Given the description of an element on the screen output the (x, y) to click on. 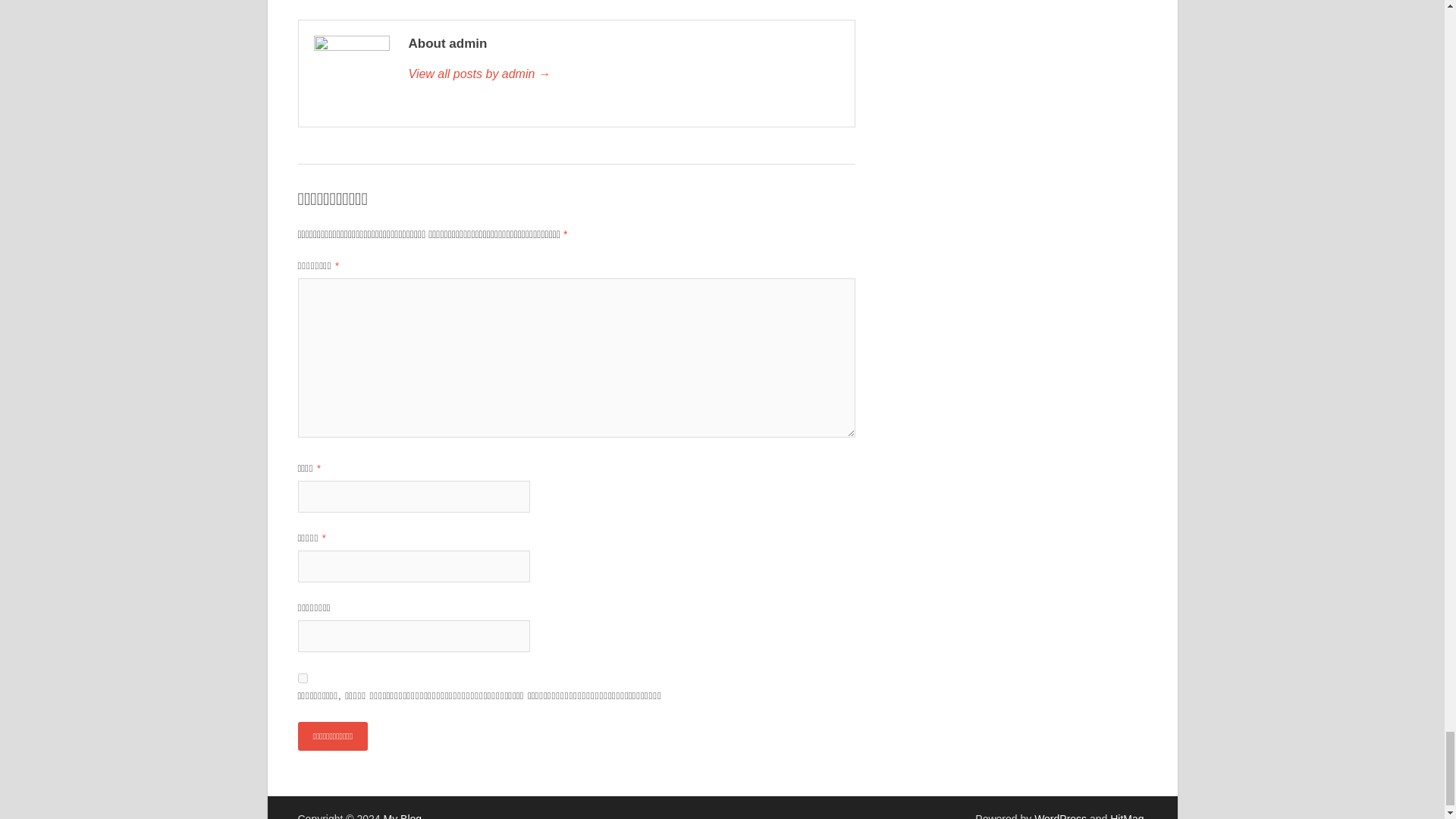
yes (302, 678)
admin (622, 74)
